Given the description of an element on the screen output the (x, y) to click on. 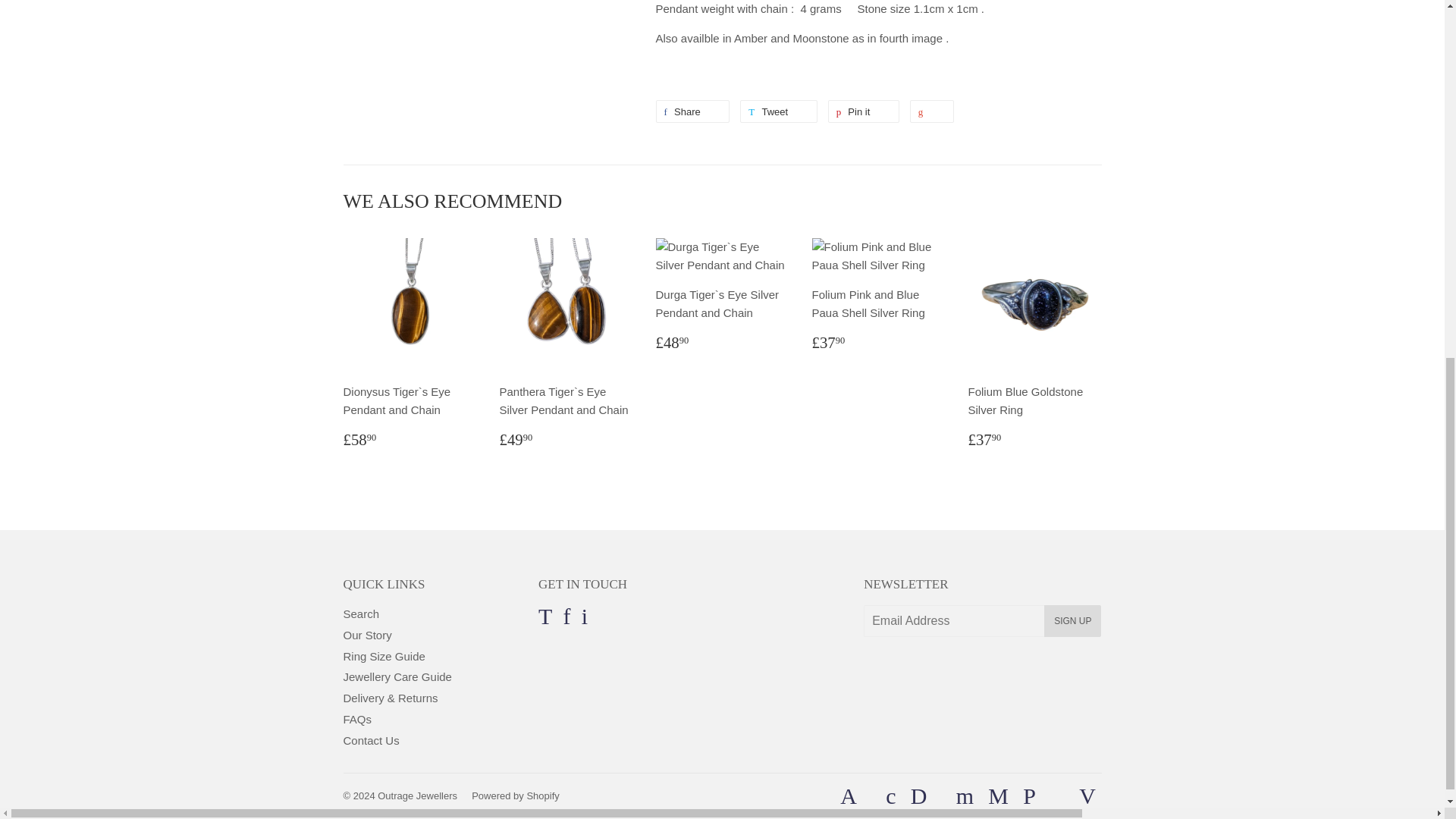
Sign Up (1071, 621)
Outrage Jewellers on Twitter (544, 619)
